Given the description of an element on the screen output the (x, y) to click on. 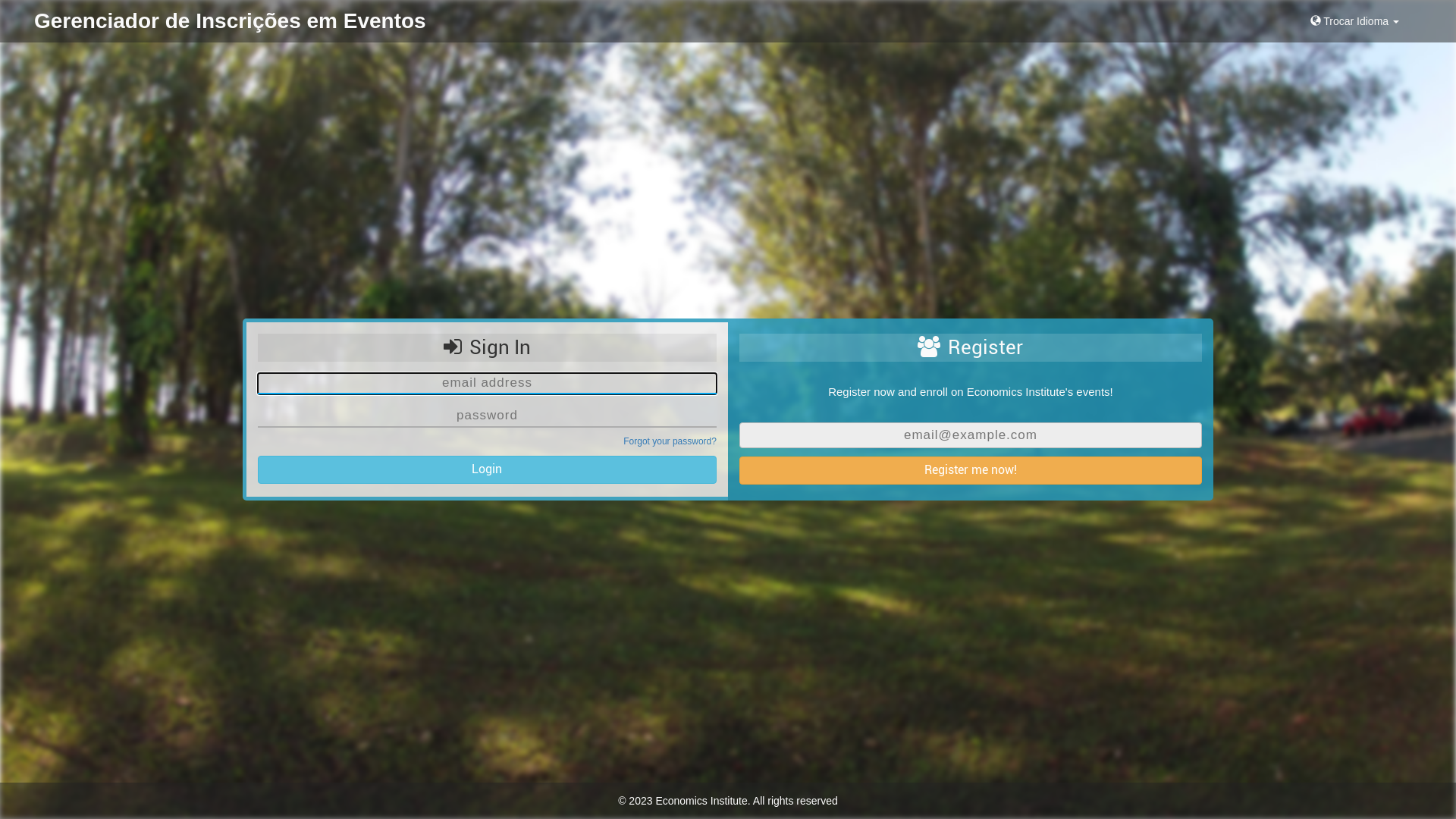
Login Element type: text (486, 469)
Forgot your password? Element type: text (669, 441)
Register me now! Element type: text (970, 470)
 Trocar Idioma  Element type: text (1354, 21)
